Given the description of an element on the screen output the (x, y) to click on. 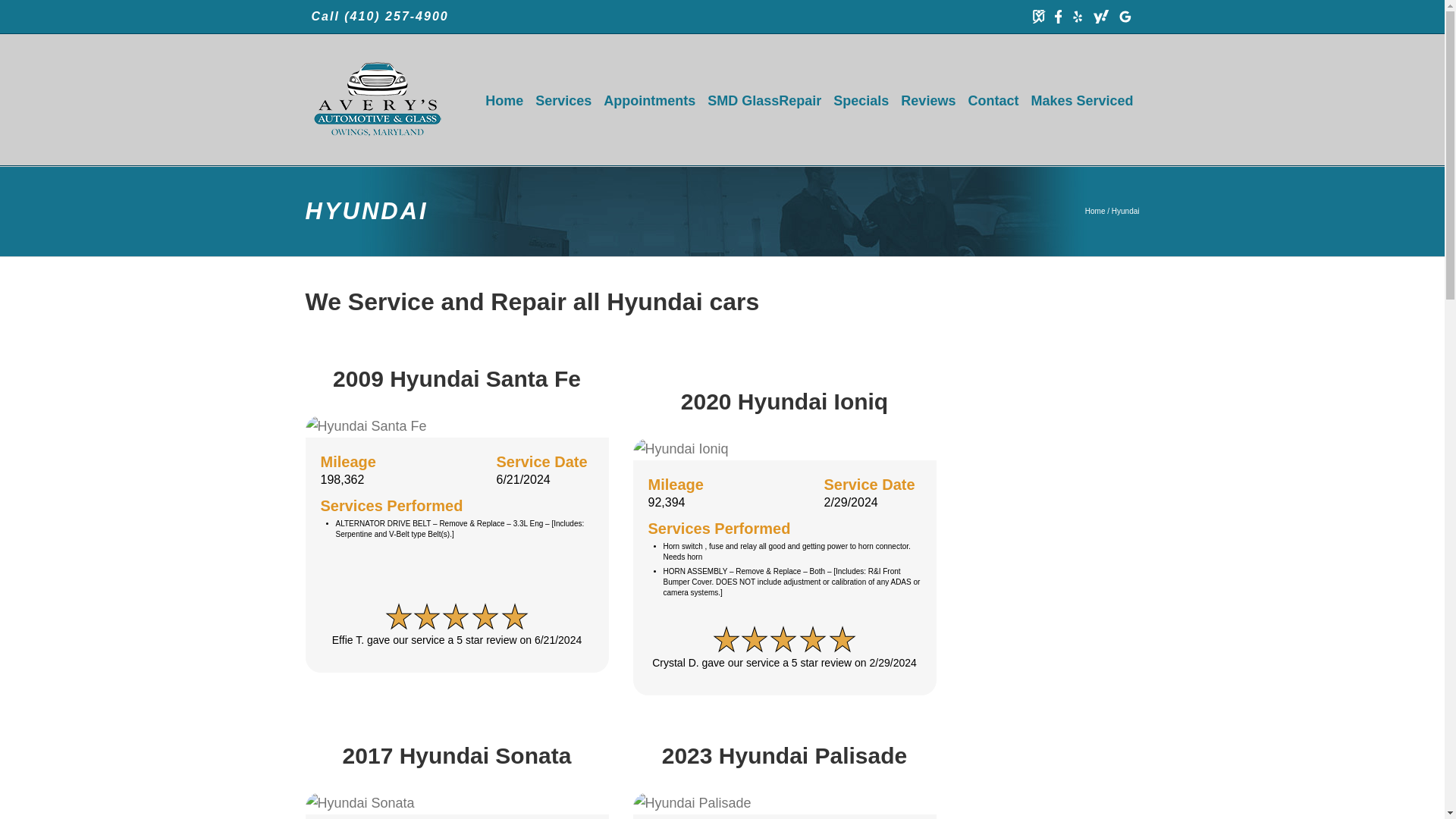
SMD GlassRepair (764, 100)
Yahoo (1100, 16)
Yelp (1077, 16)
SureCritic (1038, 16)
